Given the description of an element on the screen output the (x, y) to click on. 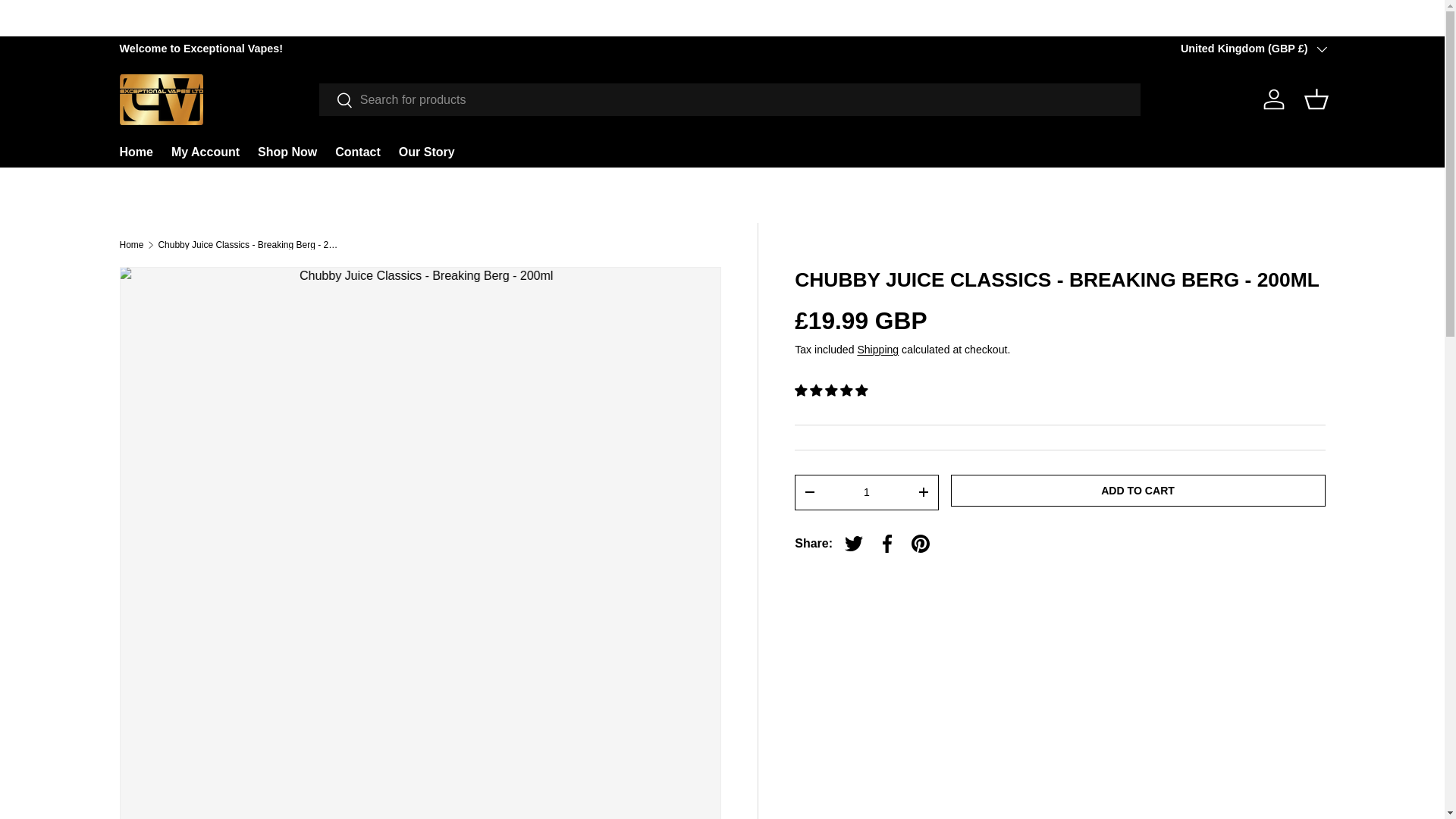
Tweet on Twitter (853, 543)
Chubby Juice Classics - Breaking Berg - 200ml (248, 244)
Contact (357, 152)
My Account (205, 152)
Home (131, 244)
Our Story (426, 152)
1 (866, 491)
Home (135, 152)
Log in (1273, 99)
Share on Facebook (887, 543)
